Given the description of an element on the screen output the (x, y) to click on. 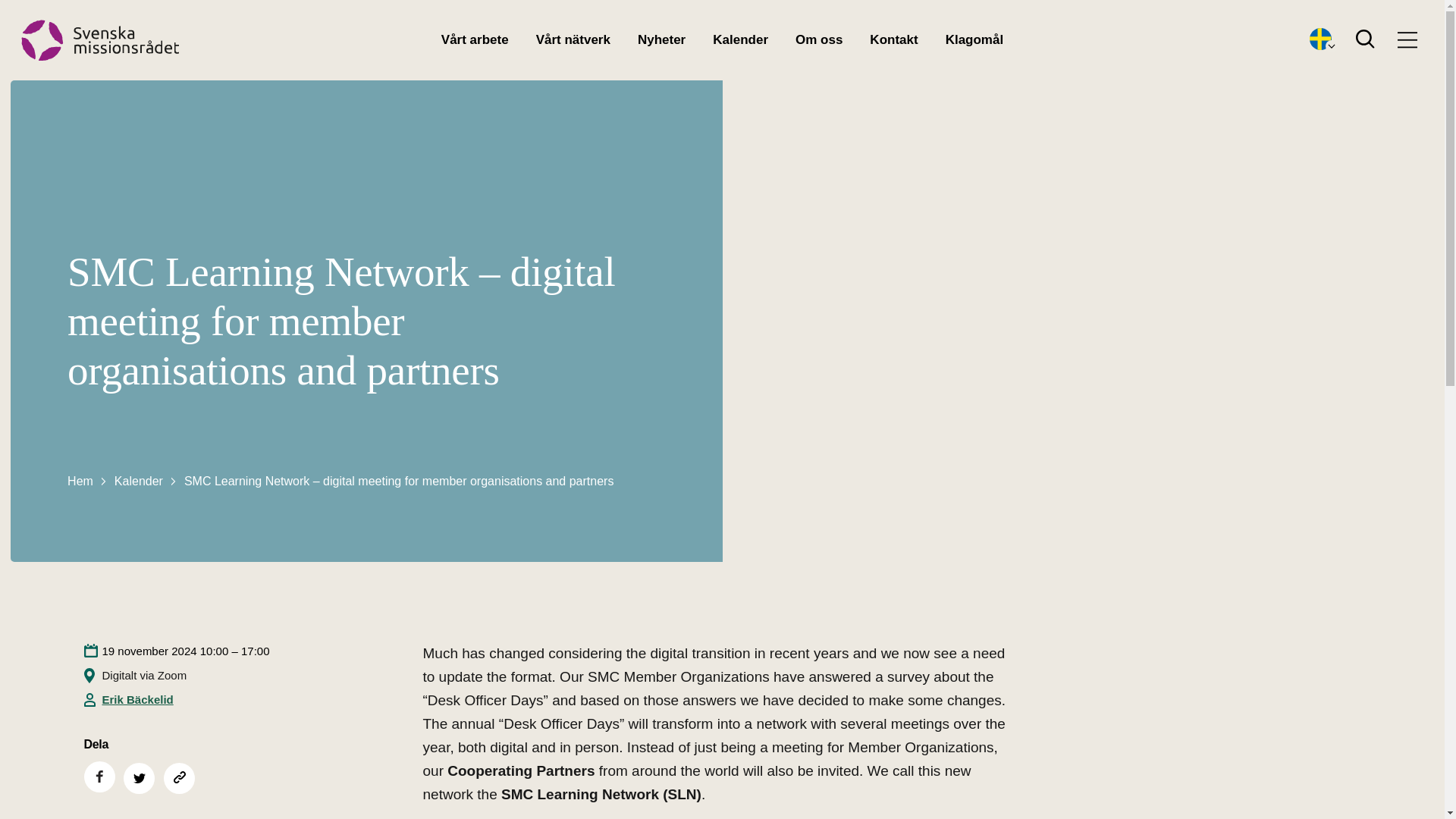
Om oss (818, 39)
Kontakt (893, 39)
Kalender (740, 39)
Nyheter (661, 39)
